Given the description of an element on the screen output the (x, y) to click on. 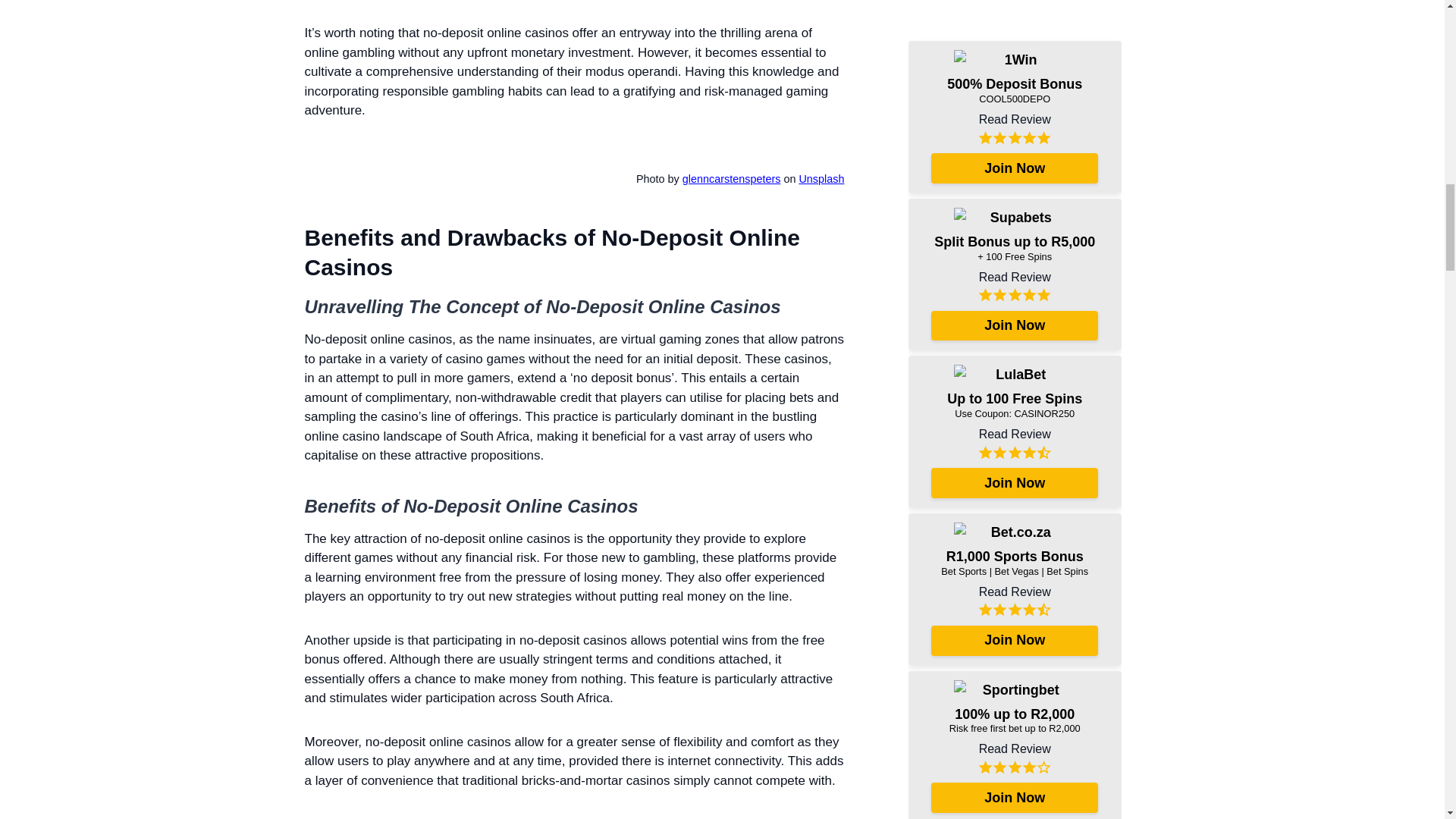
Unsplash (820, 178)
glenncarstenspeters (731, 178)
